Given the description of an element on the screen output the (x, y) to click on. 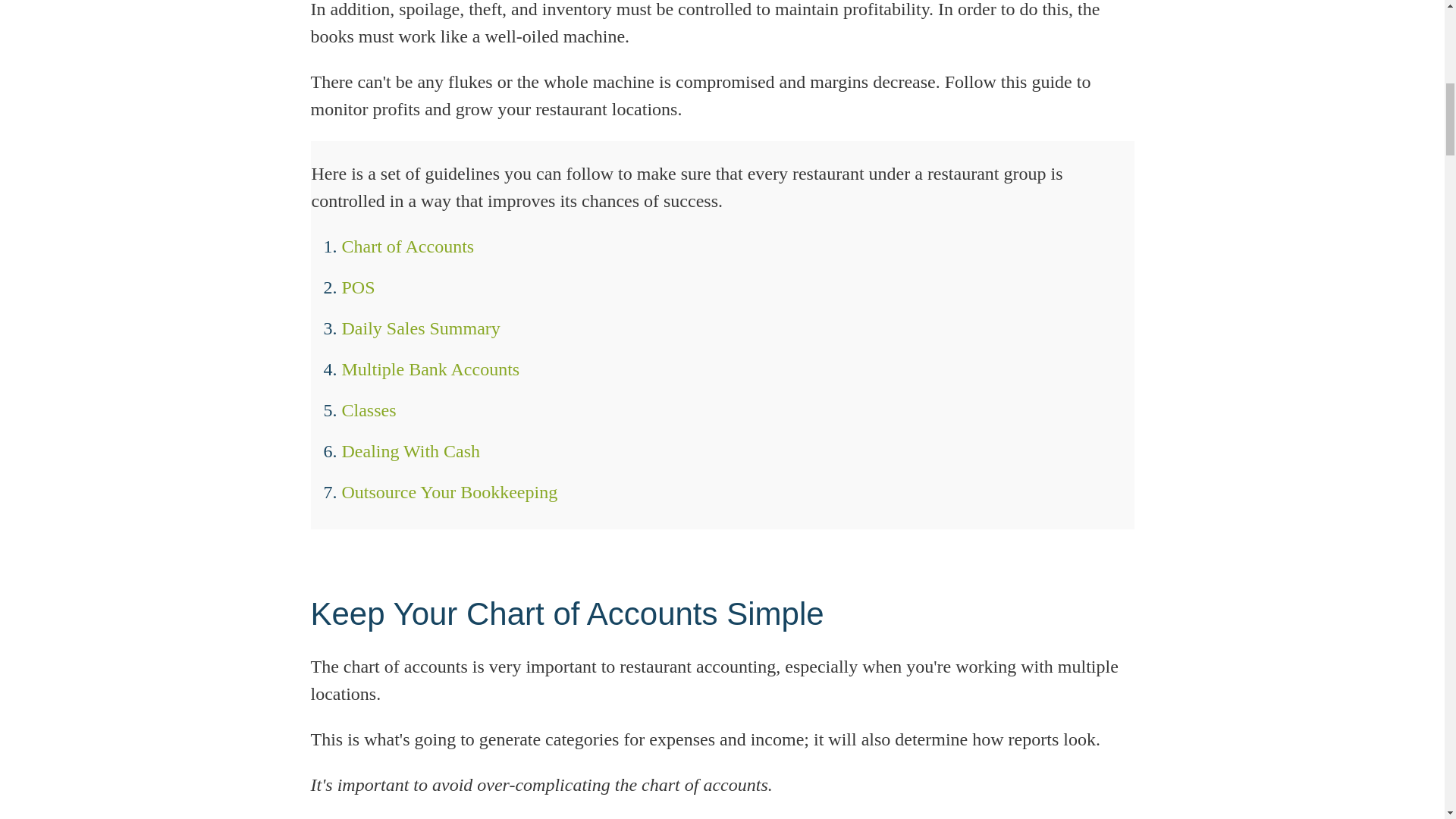
Daily Sales Summary (419, 328)
Dealing With Cash (410, 451)
POS (357, 287)
Multiple Bank Accounts (429, 369)
Outsource Your Bookkeeping (448, 492)
Classes (368, 410)
Chart of Accounts (407, 246)
